Given the description of an element on the screen output the (x, y) to click on. 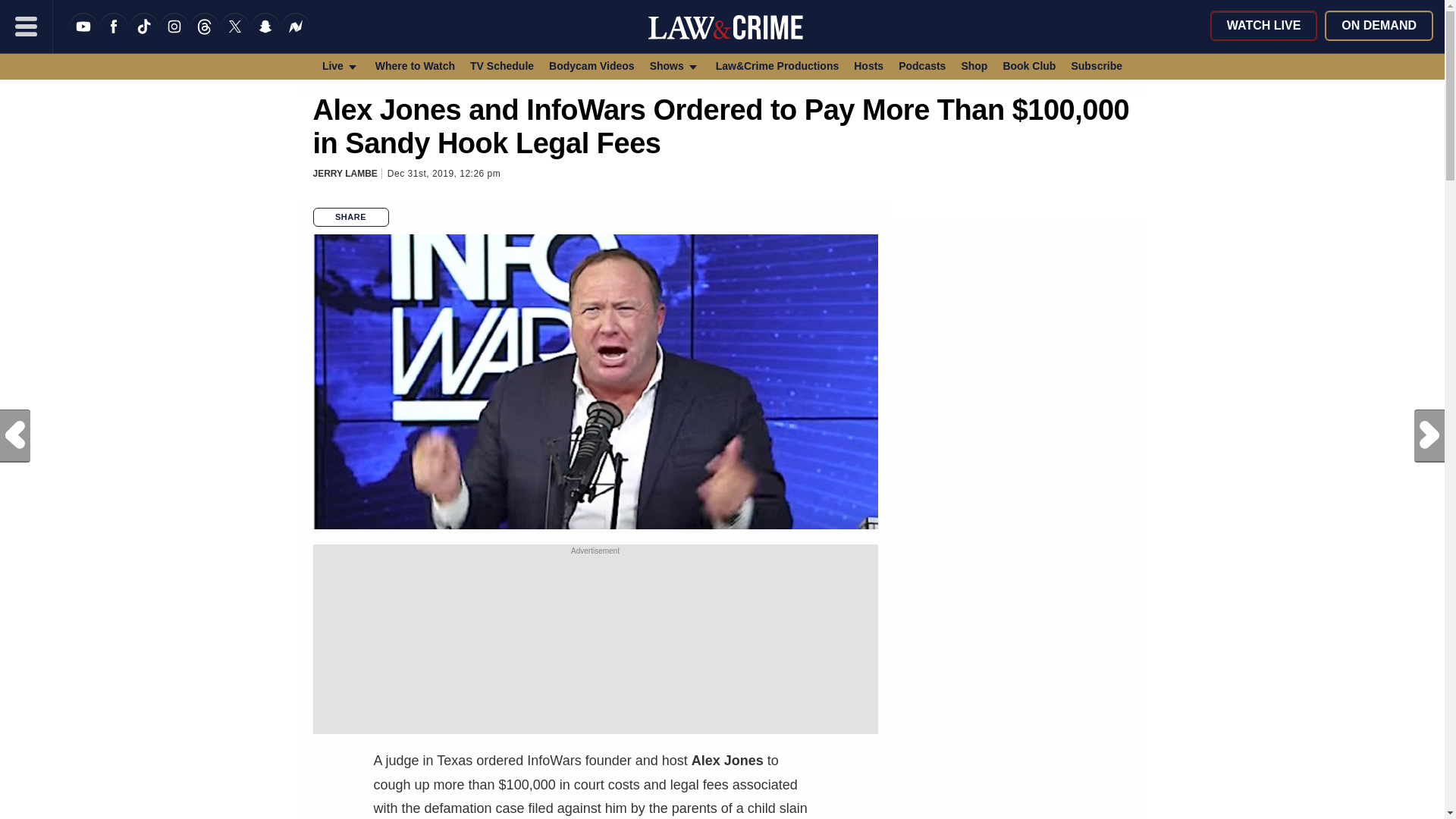
Posts by Jerry Lambe (345, 173)
Threads (204, 35)
YouTube (83, 35)
News Break (295, 35)
Instagram (173, 35)
Like us on Facebook (114, 35)
TikTok (144, 35)
Snapchat (265, 35)
